Given the description of an element on the screen output the (x, y) to click on. 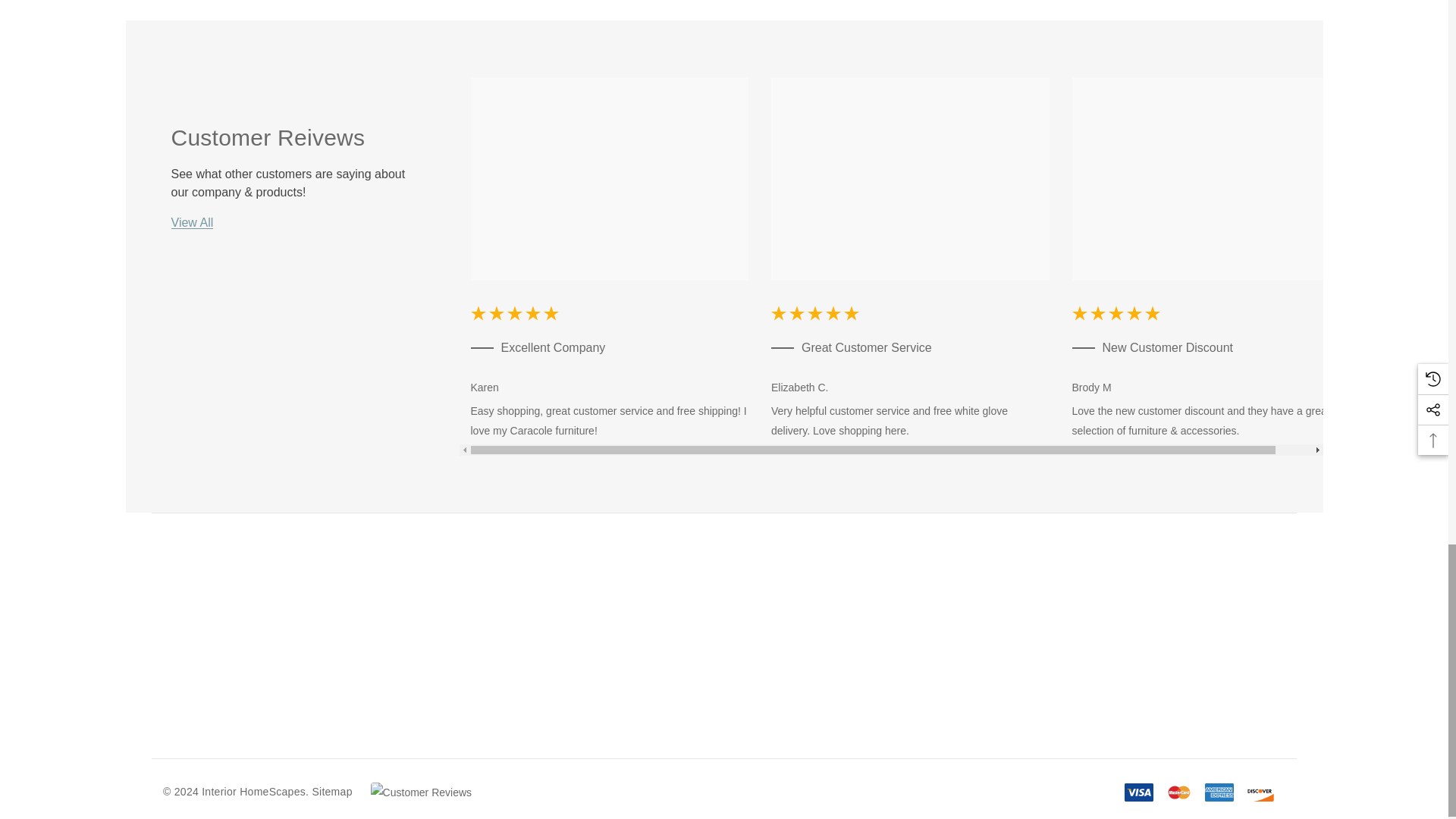
Visa Visa (1138, 791)
Mastercard Mastercard (1178, 791)
